Given the description of an element on the screen output the (x, y) to click on. 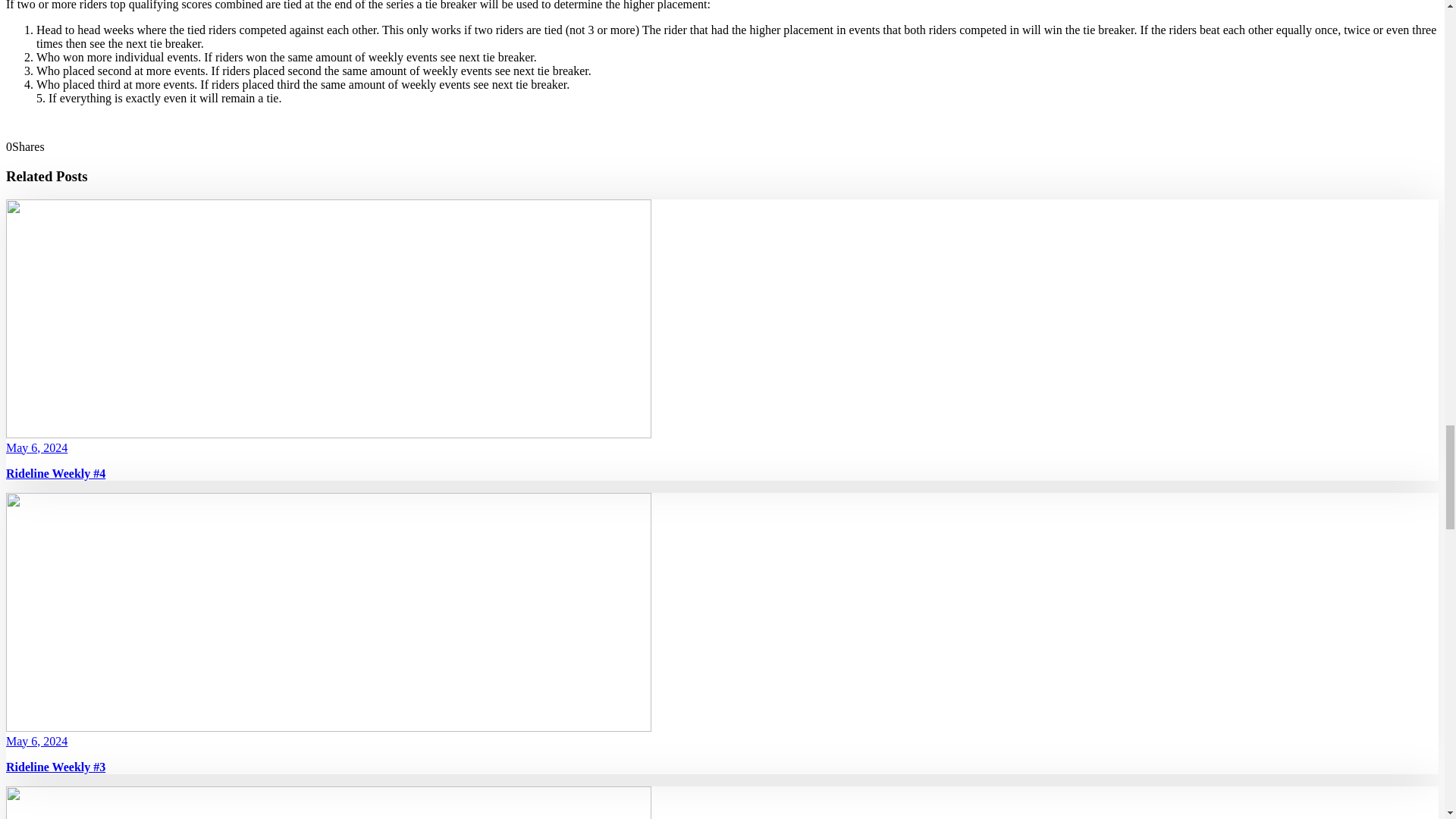
Rideline Weekly Template2 (327, 802)
